Given the description of an element on the screen output the (x, y) to click on. 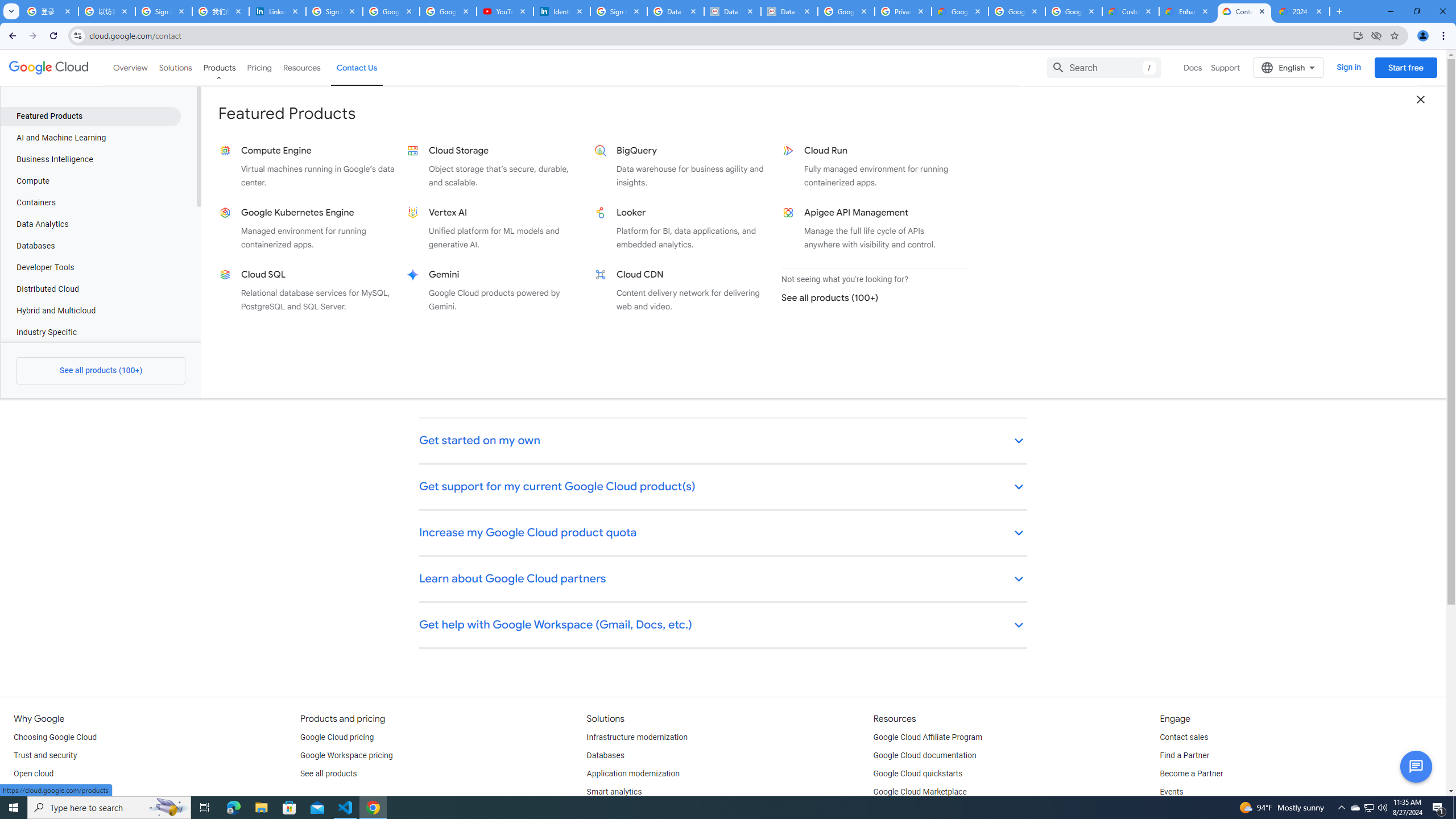
Contact Us (356, 67)
Containers (90, 202)
Google Cloud pricing (336, 737)
Business Intelligence (90, 159)
Pricing (259, 67)
Vertex AI Unified platform for ML models and generative AI. (495, 228)
Contact sales (1183, 737)
Developer Tools (90, 267)
